Given the description of an element on the screen output the (x, y) to click on. 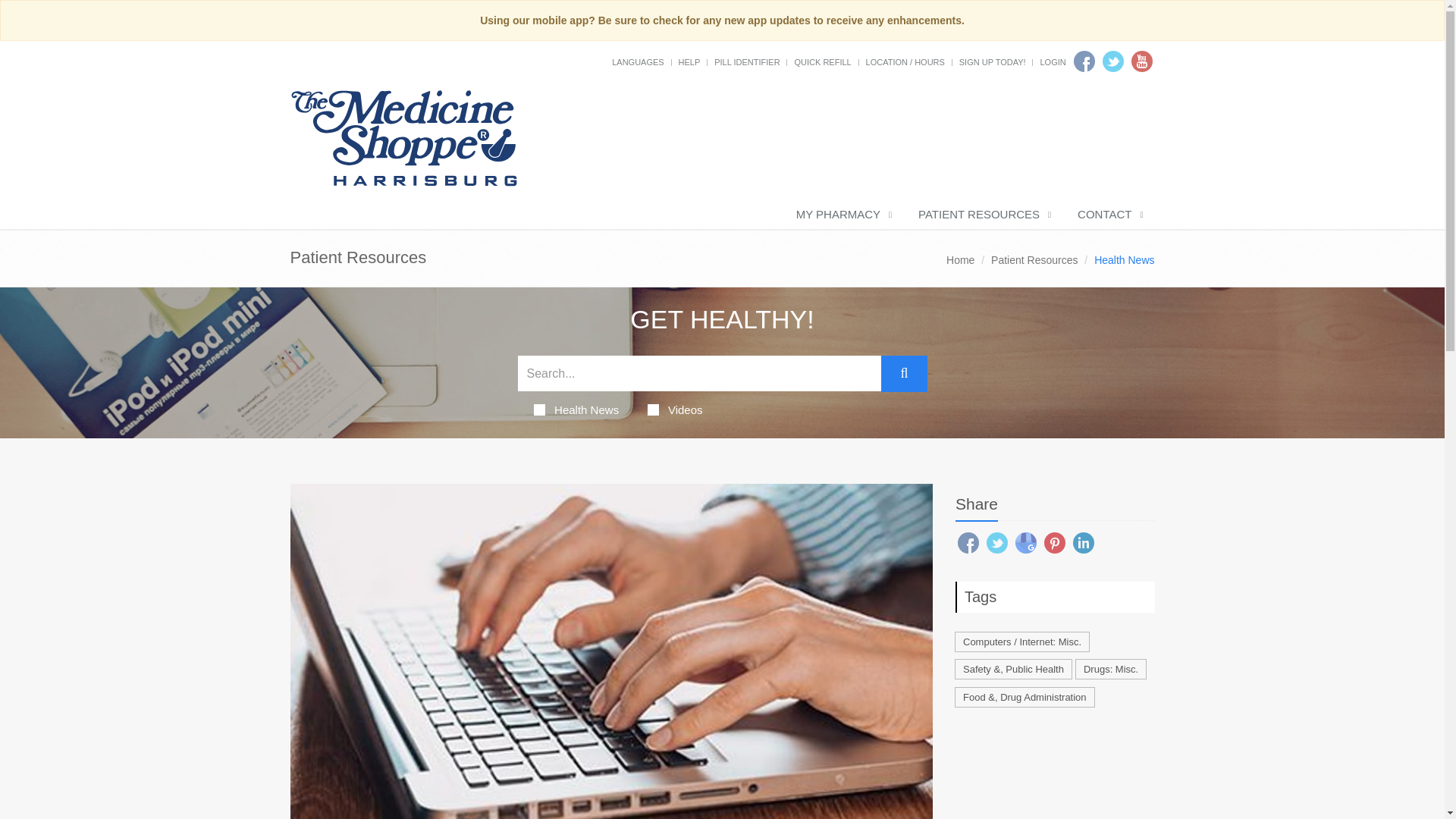
HELP (689, 61)
PATIENT RESOURCES (982, 214)
Patient Resources (1034, 259)
LANGUAGES (637, 61)
CONTACT (1108, 214)
SIGN UP TODAY! (992, 61)
MY PHARMACY (841, 214)
PILL IDENTIFIER (746, 61)
Home (960, 259)
QUICK REFILL (821, 61)
